Given the description of an element on the screen output the (x, y) to click on. 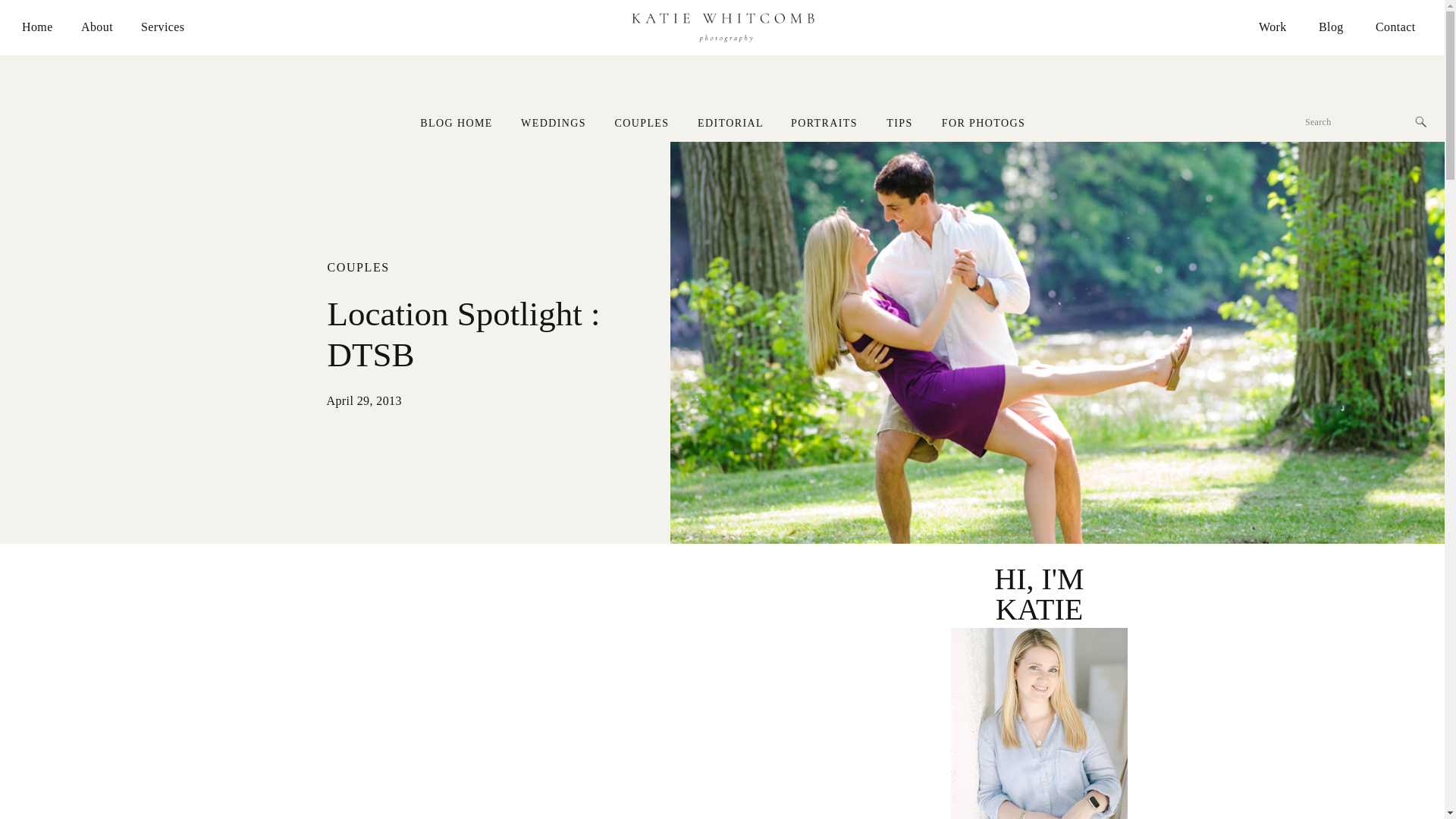
Home (35, 27)
BLOG HOME (455, 121)
EDITORIAL (729, 122)
PORTRAITS (824, 121)
Contact (1397, 27)
Blog (1331, 27)
Services (162, 27)
WEDDINGS (553, 122)
COUPLES (358, 267)
TIPS (899, 121)
Work (1272, 27)
FOR PHOTOGS (983, 122)
COUPLES (641, 122)
About (98, 27)
